Given the description of an element on the screen output the (x, y) to click on. 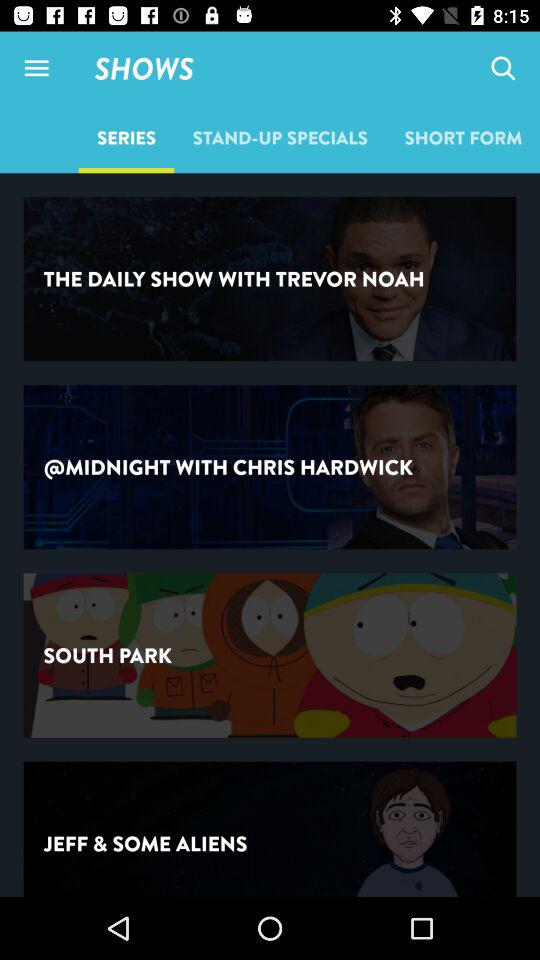
open the item next to shows icon (36, 68)
